Given the description of an element on the screen output the (x, y) to click on. 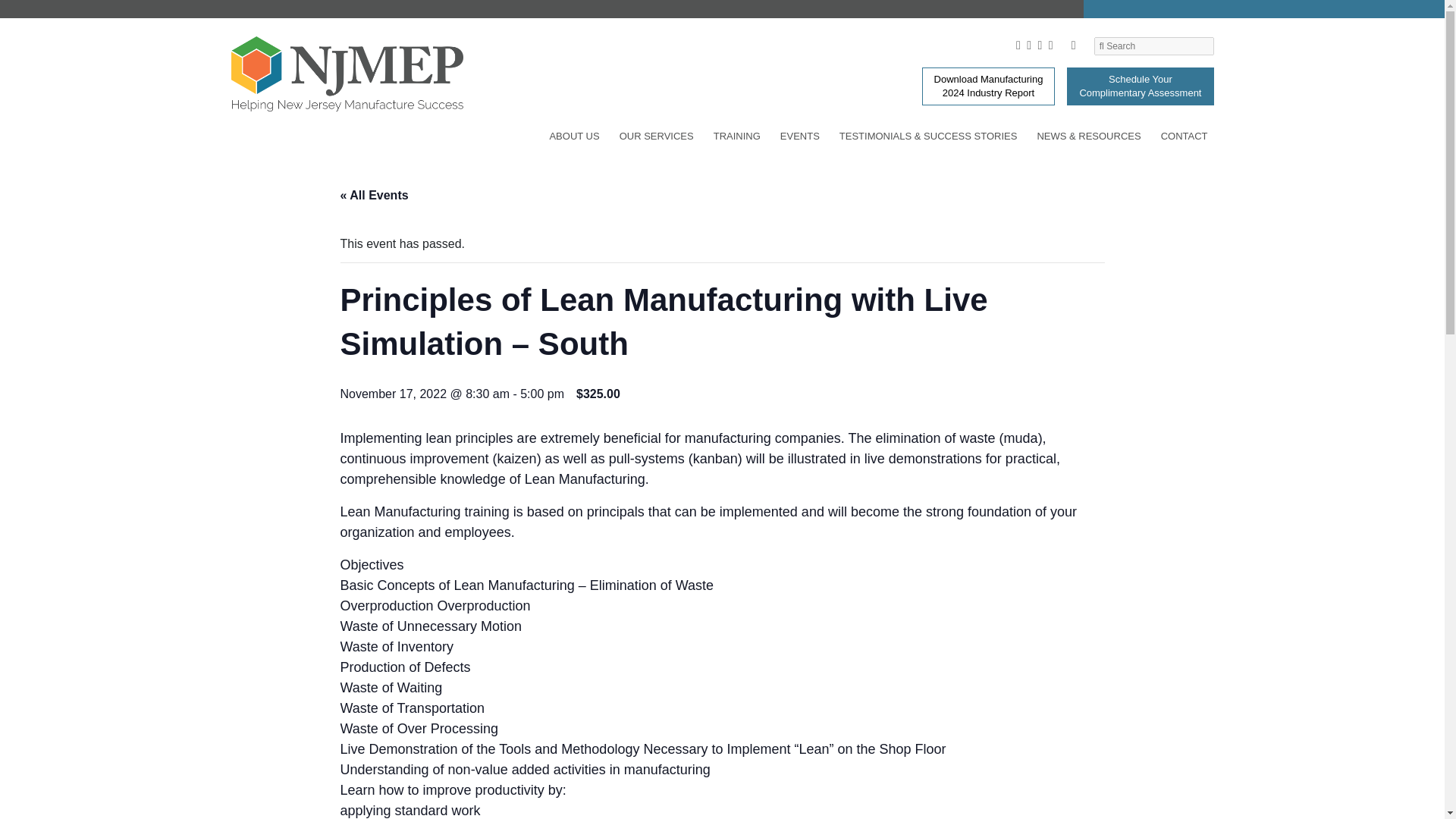
TRAINING (737, 139)
Classes (339, 32)
The Manufacturing Counts Initiative (339, 4)
ABOUT US (574, 139)
Calendar (339, 8)
Medical Device Manufacturing (339, 11)
OUR SERVICES (656, 139)
Affiliate Program (339, 26)
